Given the description of an element on the screen output the (x, y) to click on. 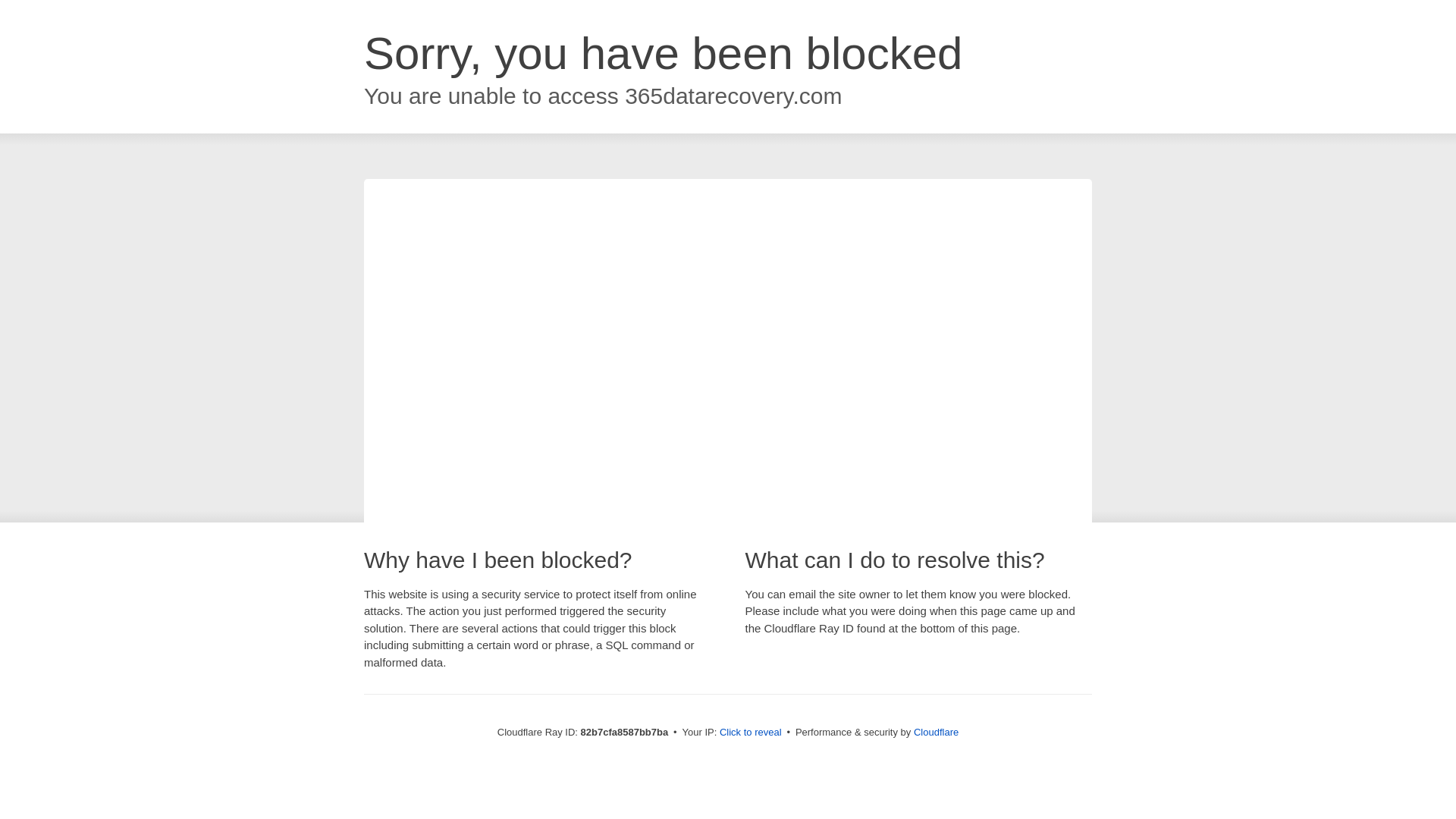
Click to reveal Element type: text (750, 732)
Cloudflare Element type: text (935, 731)
